Given the description of an element on the screen output the (x, y) to click on. 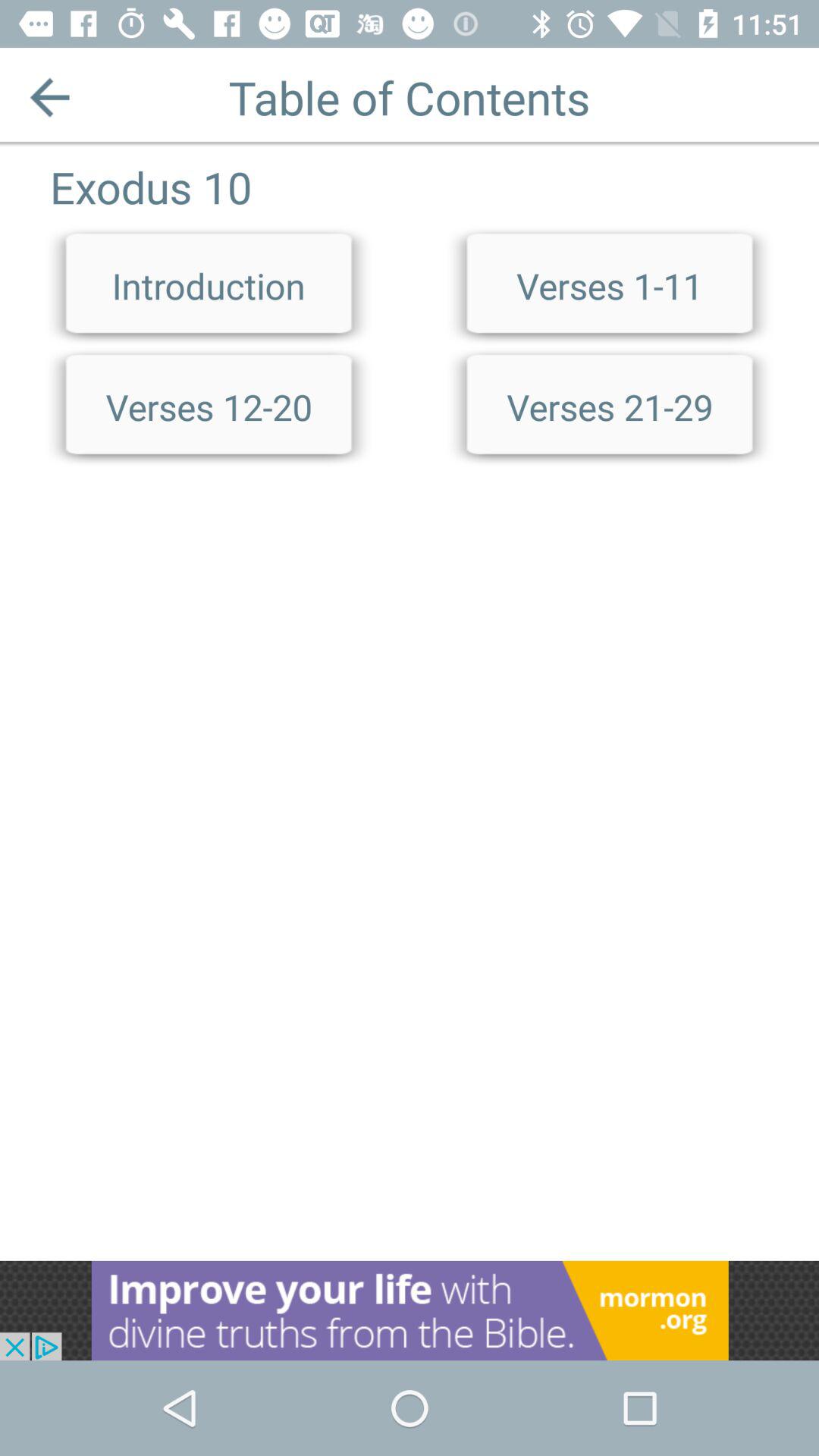
shows the goback option (49, 97)
